Given the description of an element on the screen output the (x, y) to click on. 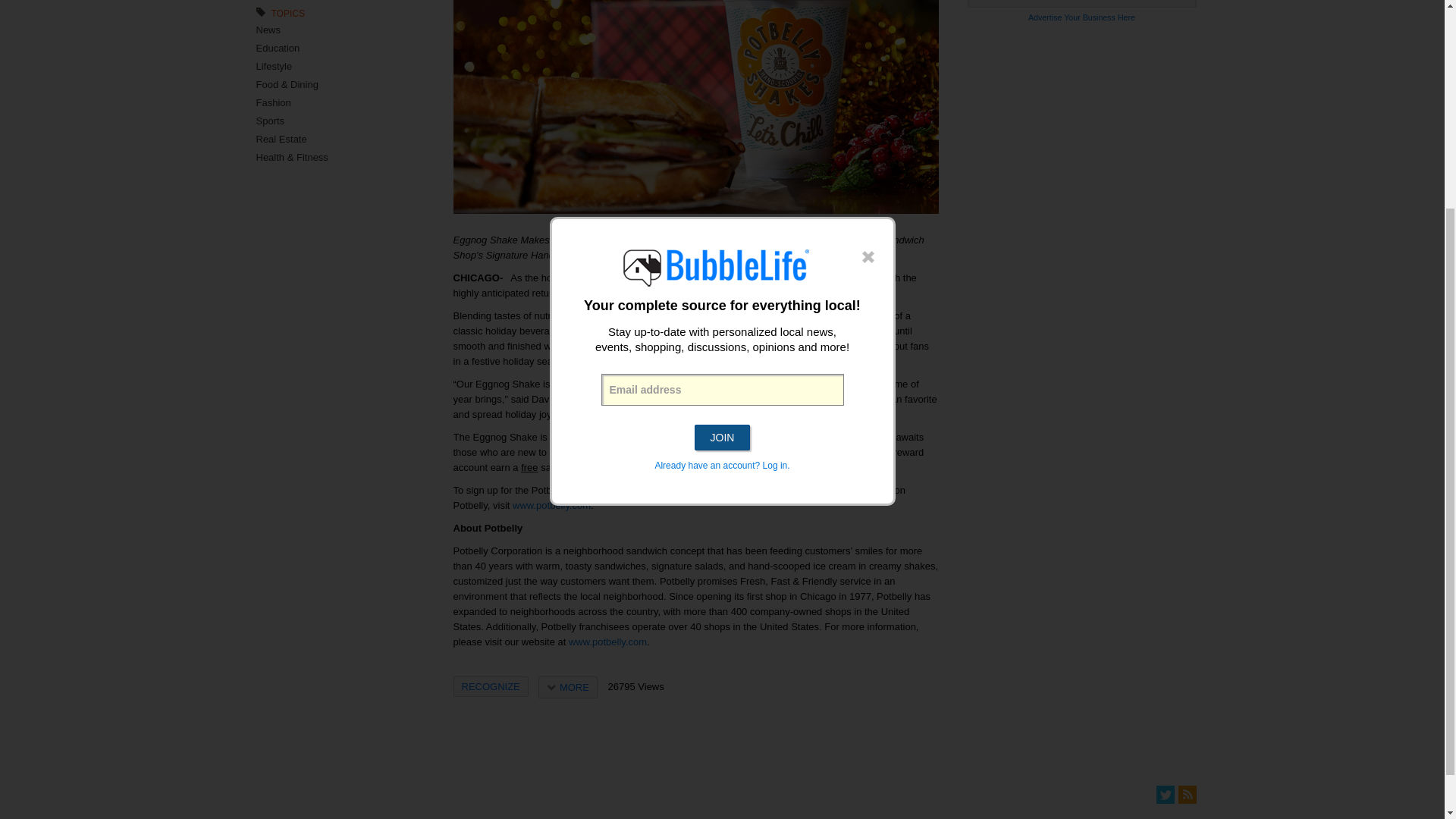
Join (722, 151)
Already have an account? Log in. (721, 179)
Join (722, 151)
